Given the description of an element on the screen output the (x, y) to click on. 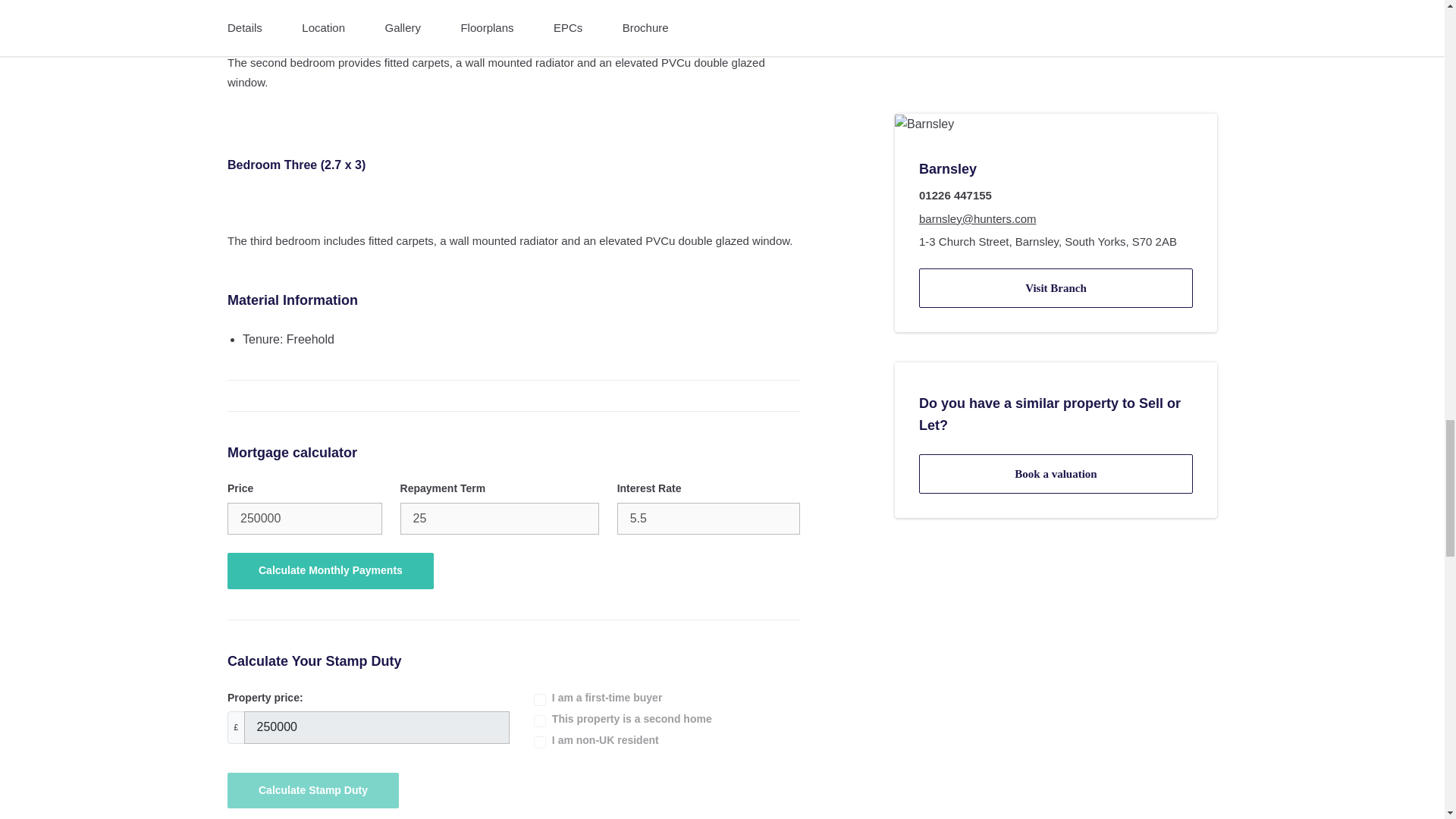
Calculate Monthly Payments (330, 570)
5.5 (708, 518)
on (540, 742)
on (540, 699)
250000 (376, 726)
250000 (304, 518)
25 (499, 518)
on (540, 720)
